Given the description of an element on the screen output the (x, y) to click on. 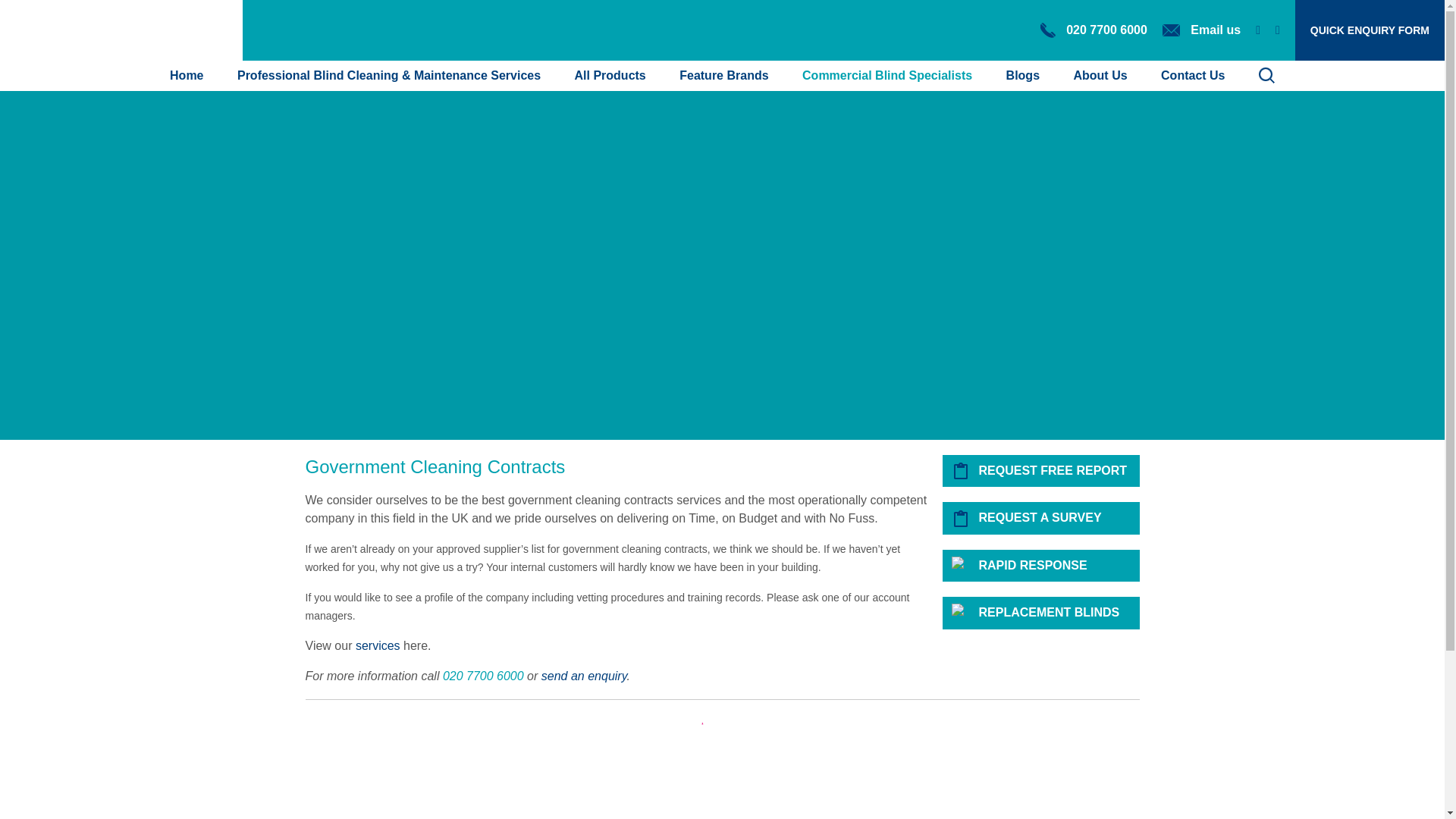
Bringht A Blind (121, 30)
Home (186, 75)
Email us (1200, 29)
All Products (610, 75)
020 7700 6000 (1094, 29)
